Given the description of an element on the screen output the (x, y) to click on. 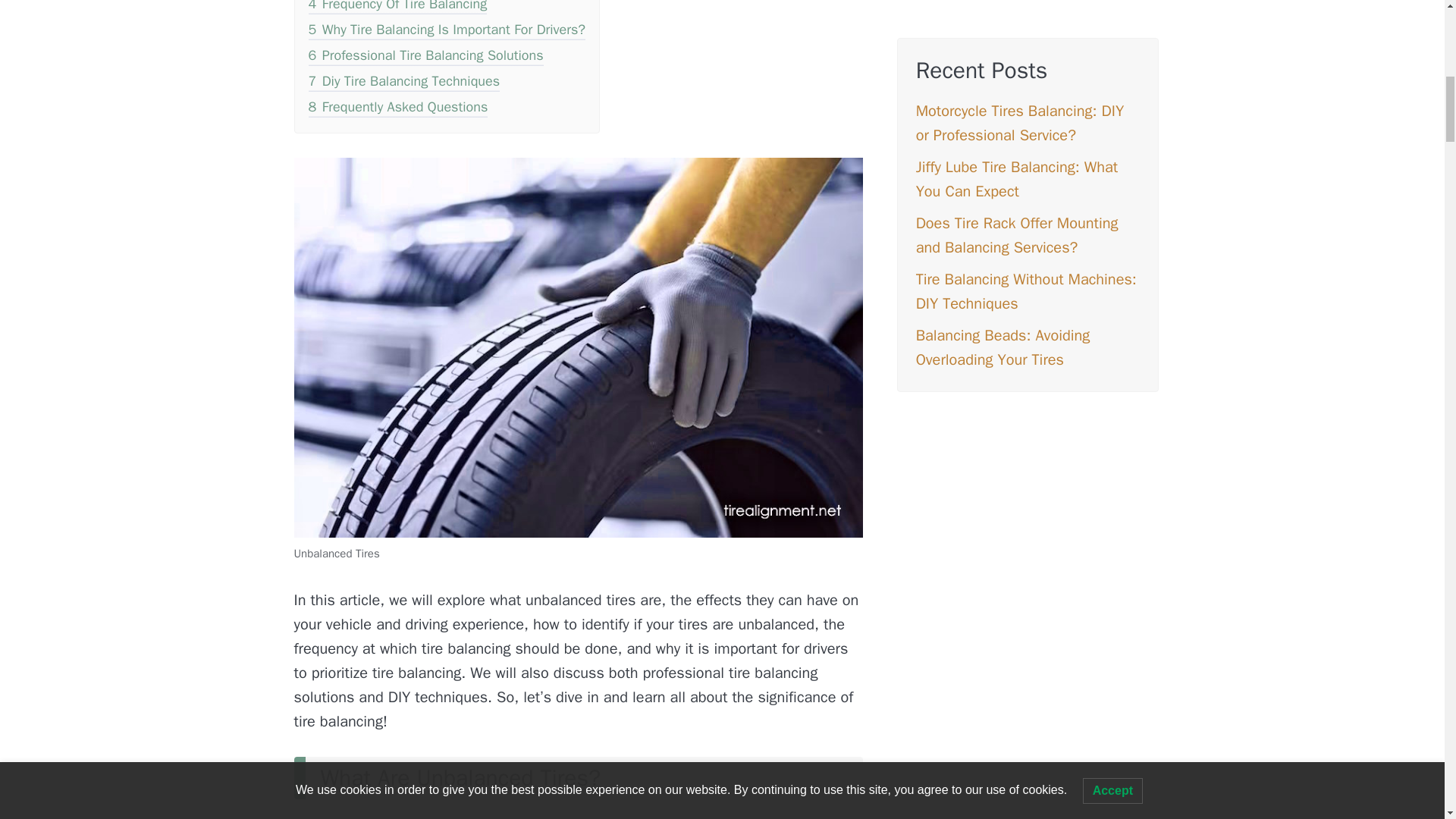
6 Professional Tire Balancing Solutions (425, 56)
Scroll back to top (1406, 720)
5 Why Tire Balancing Is Important For Drivers? (446, 31)
8 Frequently Asked Questions (397, 108)
4 Frequency Of Tire Balancing (396, 7)
7 Diy Tire Balancing Techniques (403, 82)
